Given the description of an element on the screen output the (x, y) to click on. 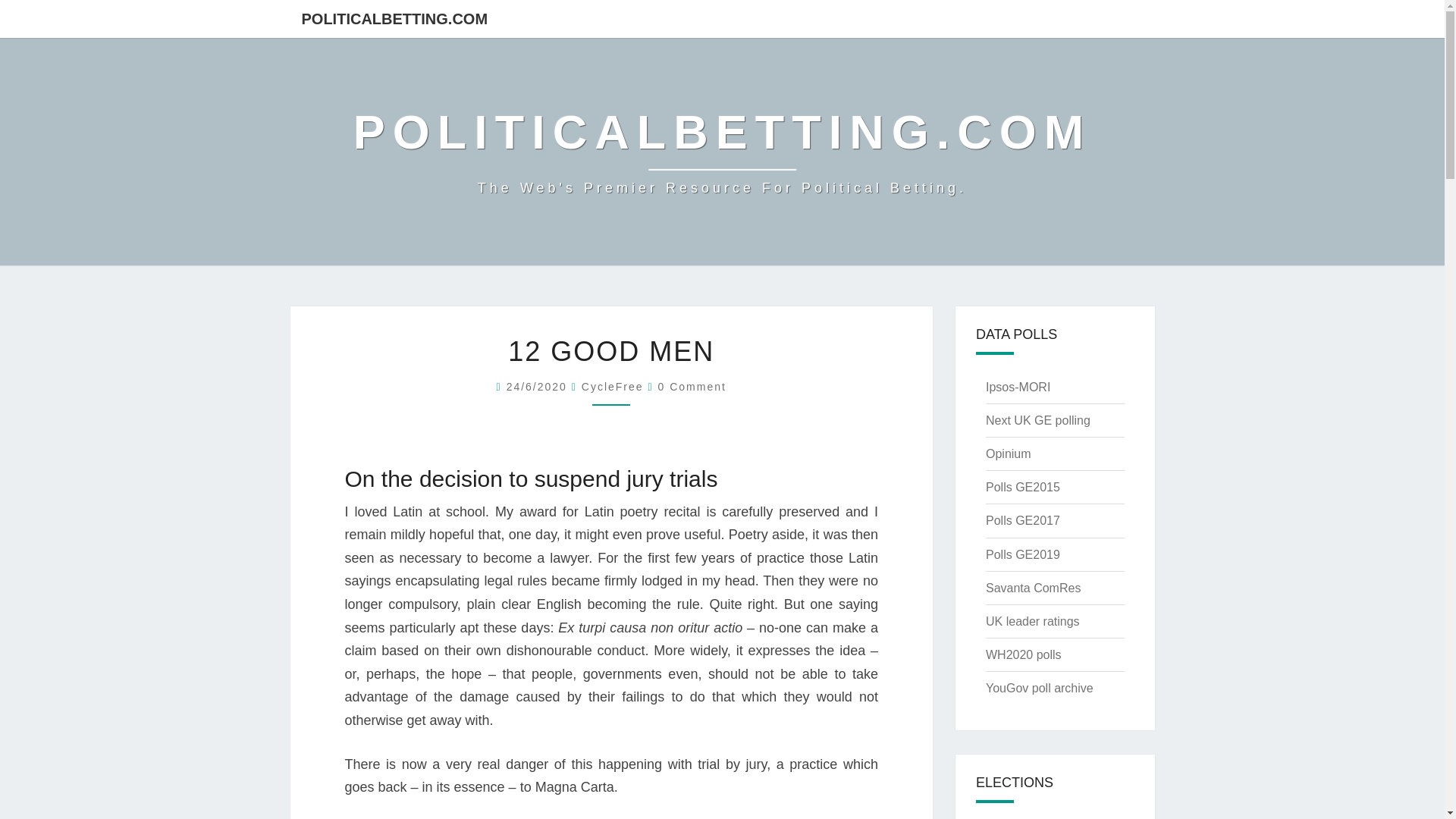
POLITICALBETTING.COM (394, 18)
0 Comment (692, 386)
Opinium (1007, 453)
WH2020 polls (1023, 654)
Polls GE2017 (1022, 520)
Polls GE2015 (1022, 486)
22:11 (539, 386)
CycleFree (611, 386)
Polls GE2019 (1022, 554)
YouGov poll archive (1039, 687)
